Given the description of an element on the screen output the (x, y) to click on. 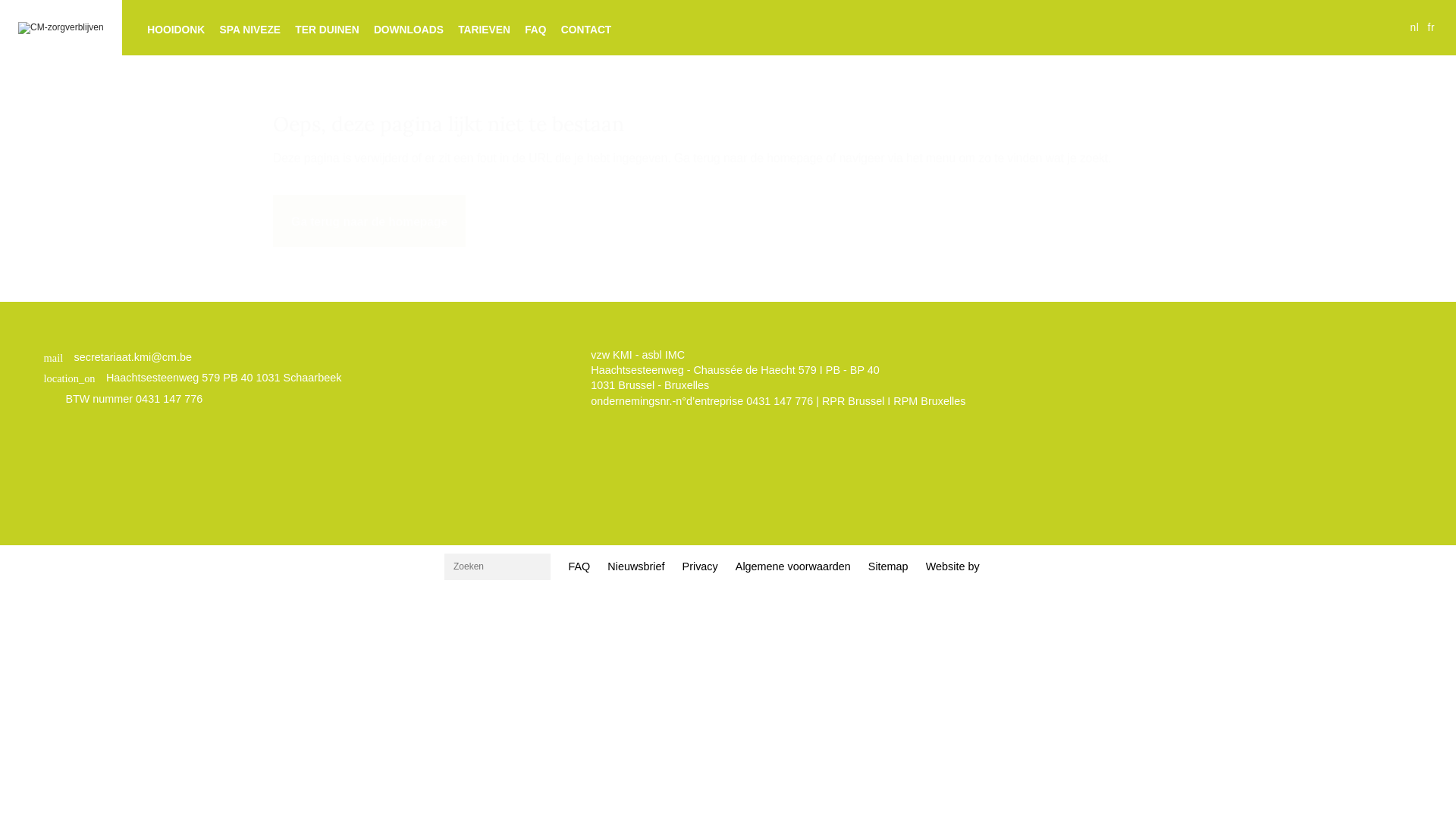
x Element type: text (743, 424)
FAQ Element type: text (535, 30)
Webhero Element type: hover (997, 566)
location_on
Haachtsesteenweg 579 PB 40 1031 Schaarbeek Element type: text (192, 377)
privacy policy Element type: text (760, 415)
Privacy Element type: text (699, 566)
CONTACT Element type: text (585, 30)
Nieuwsbrief Element type: text (636, 566)
DOWNLOADS Element type: text (408, 30)
CM-zorgverblijven Element type: hover (60, 27)
nl Element type: text (1413, 27)
fr Element type: text (1430, 27)
mail
secretariaat.kmi@cm.be Element type: text (192, 357)
Ga terug naar de homepage Element type: text (369, 220)
Sitemap Element type: text (887, 566)
Website by Element type: text (952, 566)
FAQ Element type: text (579, 566)
Algemene voorwaarden Element type: text (792, 566)
